Given the description of an element on the screen output the (x, y) to click on. 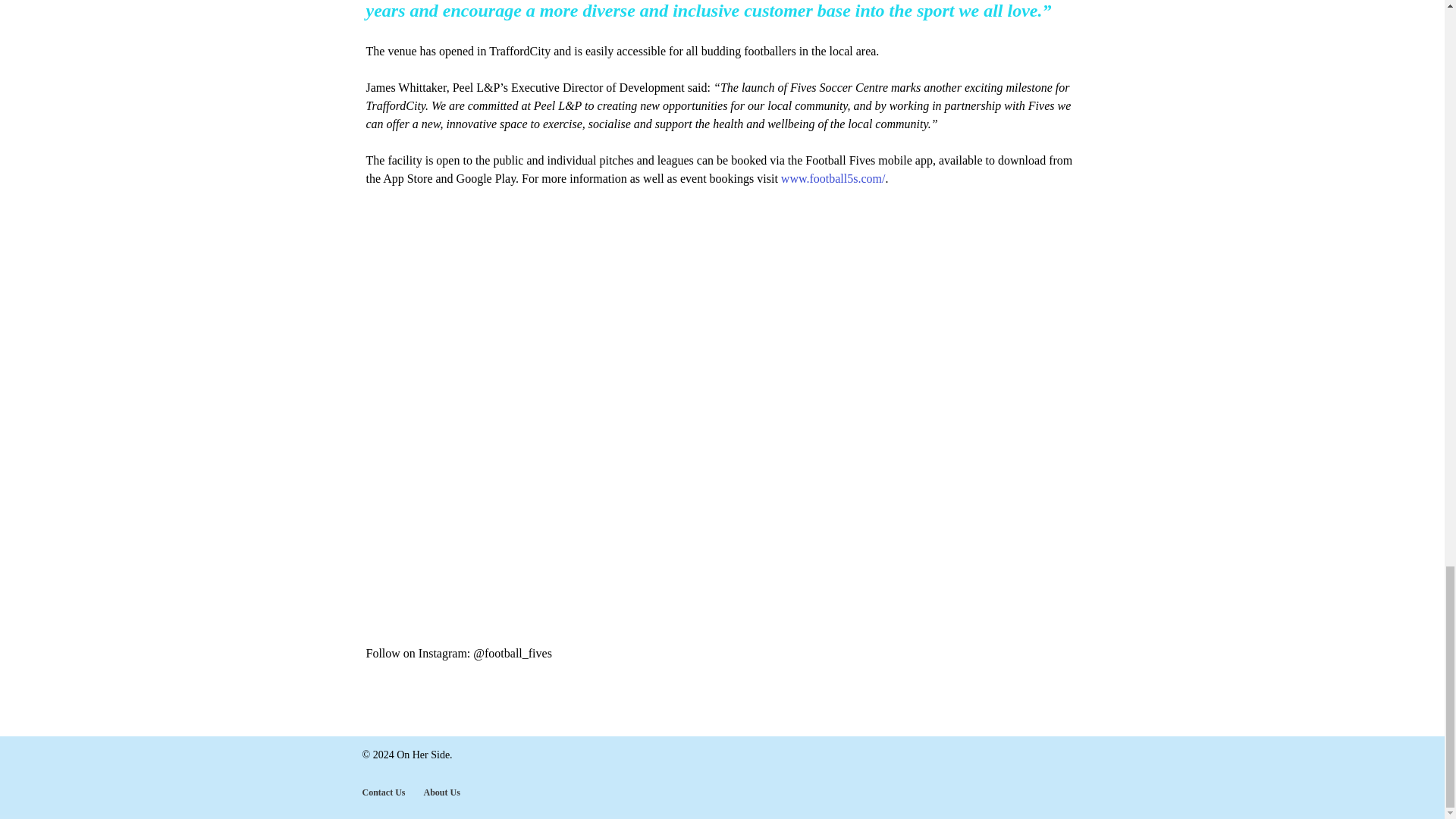
Contact Us (384, 792)
About Us (441, 792)
